Given the description of an element on the screen output the (x, y) to click on. 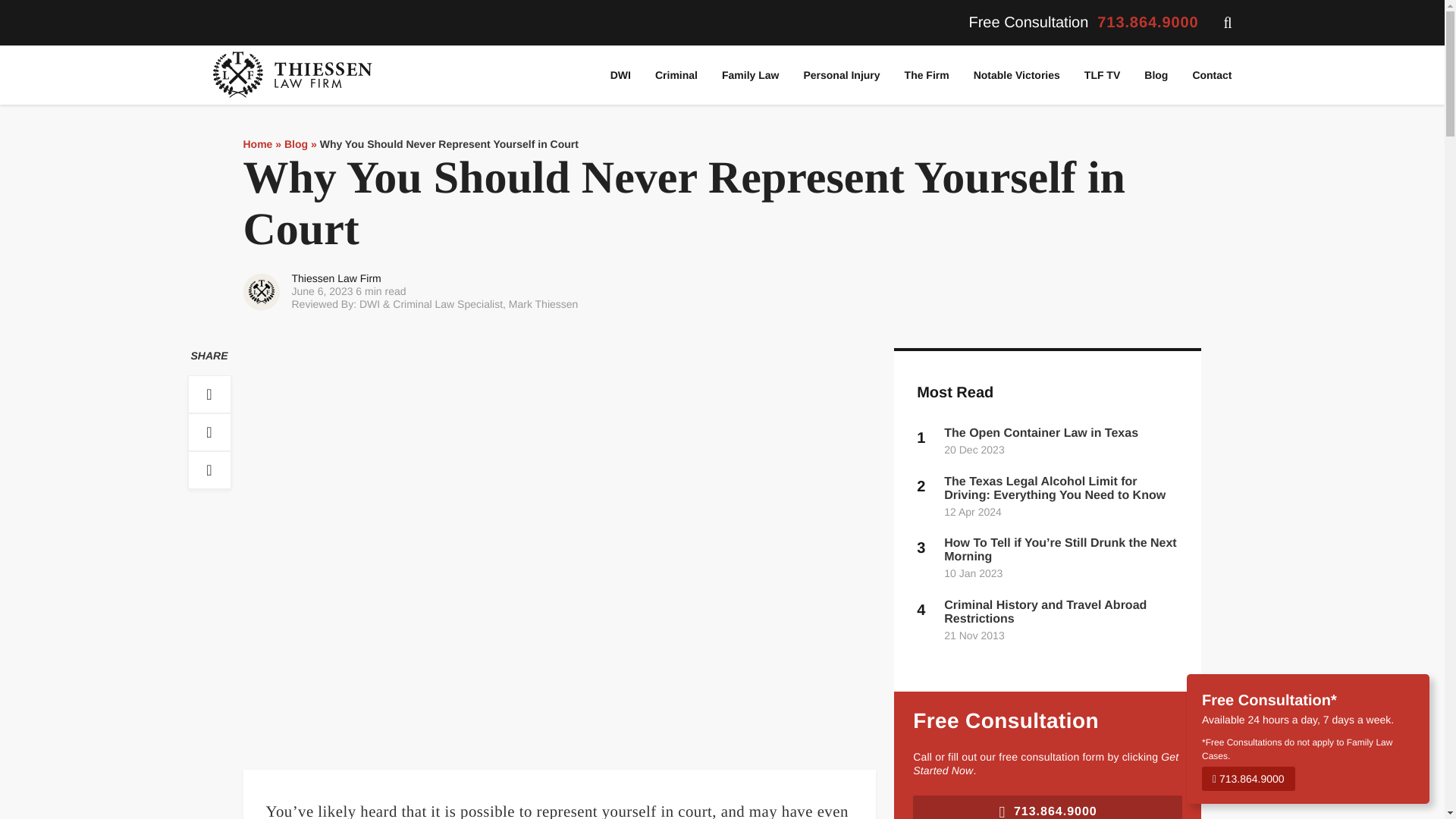
Criminal (676, 75)
DWI (620, 75)
Search (15, 7)
713.864.9000 (1147, 22)
